Given the description of an element on the screen output the (x, y) to click on. 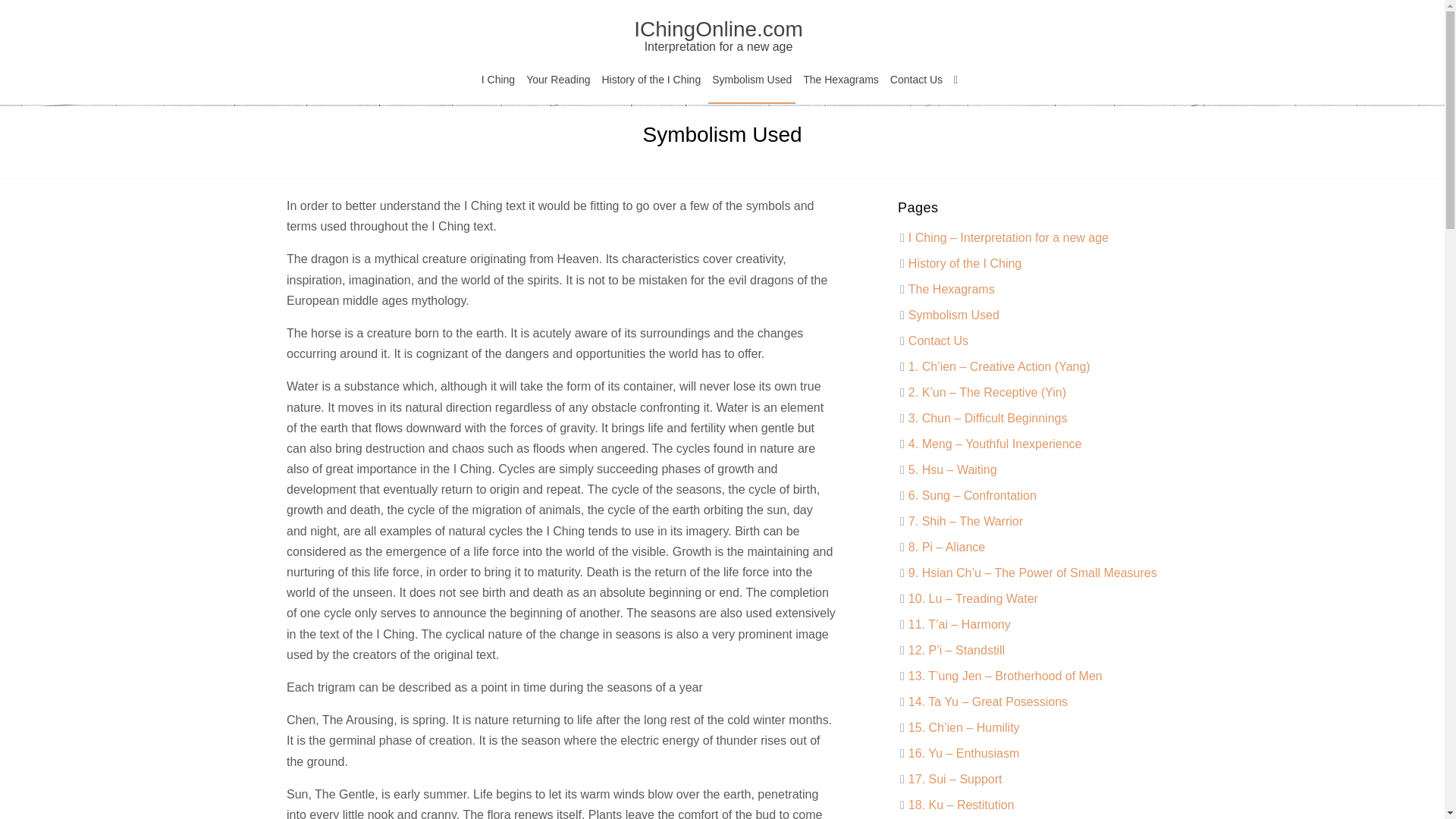
I Ching (497, 82)
Contact Us (916, 82)
History of the I Ching (650, 82)
IChingOnline.com (718, 35)
Your Reading (558, 82)
Contact Us (958, 495)
The Hexagrams (840, 82)
IChingOnline.com (718, 35)
Symbolism Used (979, 502)
History of the I Ching (997, 528)
